Given the description of an element on the screen output the (x, y) to click on. 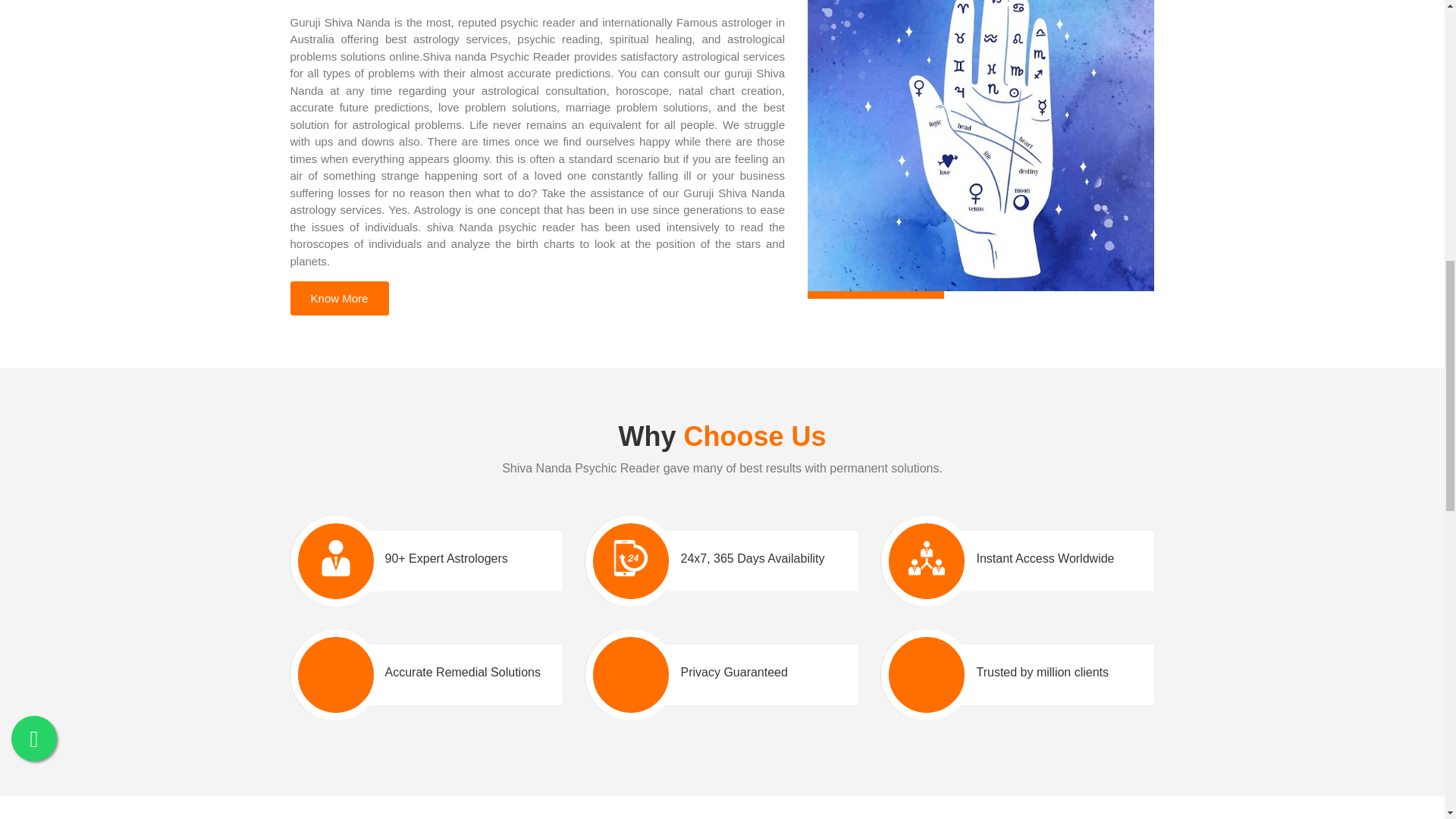
Know More (338, 298)
